Given the description of an element on the screen output the (x, y) to click on. 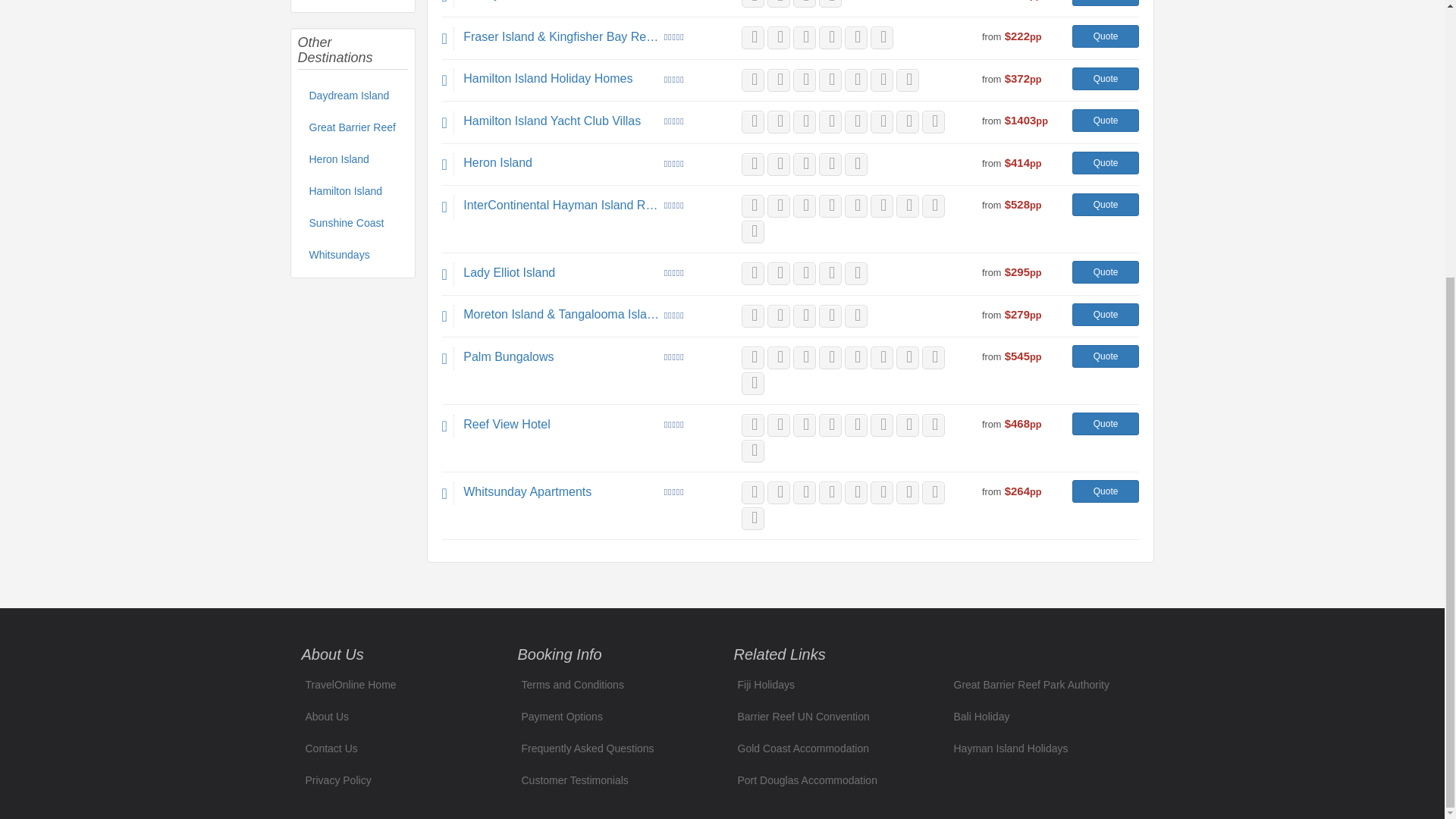
Sunshine Coast (352, 223)
Hamilton Island (352, 191)
Quote (1105, 36)
Daydream Island (352, 96)
Quote (1105, 2)
Hamilton Island (352, 191)
Heron Island (352, 159)
Great Barrier Reef (352, 128)
Daydream Island (352, 96)
Great Barrier Reef (352, 128)
Visitor Information (352, 2)
Heron Island (352, 159)
Whitsundays (352, 255)
